Given the description of an element on the screen output the (x, y) to click on. 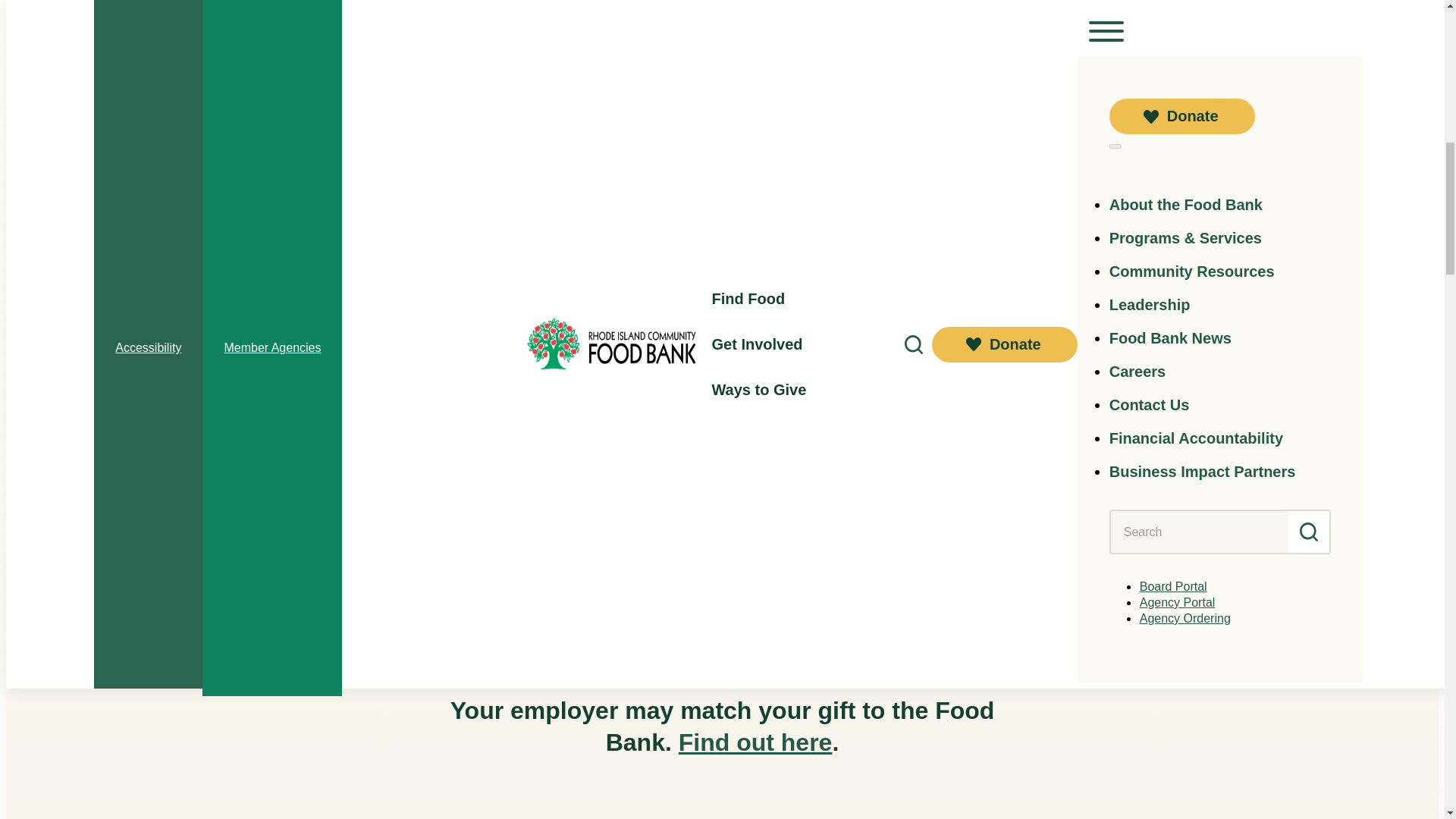
Become a Sustainer (442, 511)
Find out here (755, 741)
Donate Now (413, 47)
